Given the description of an element on the screen output the (x, y) to click on. 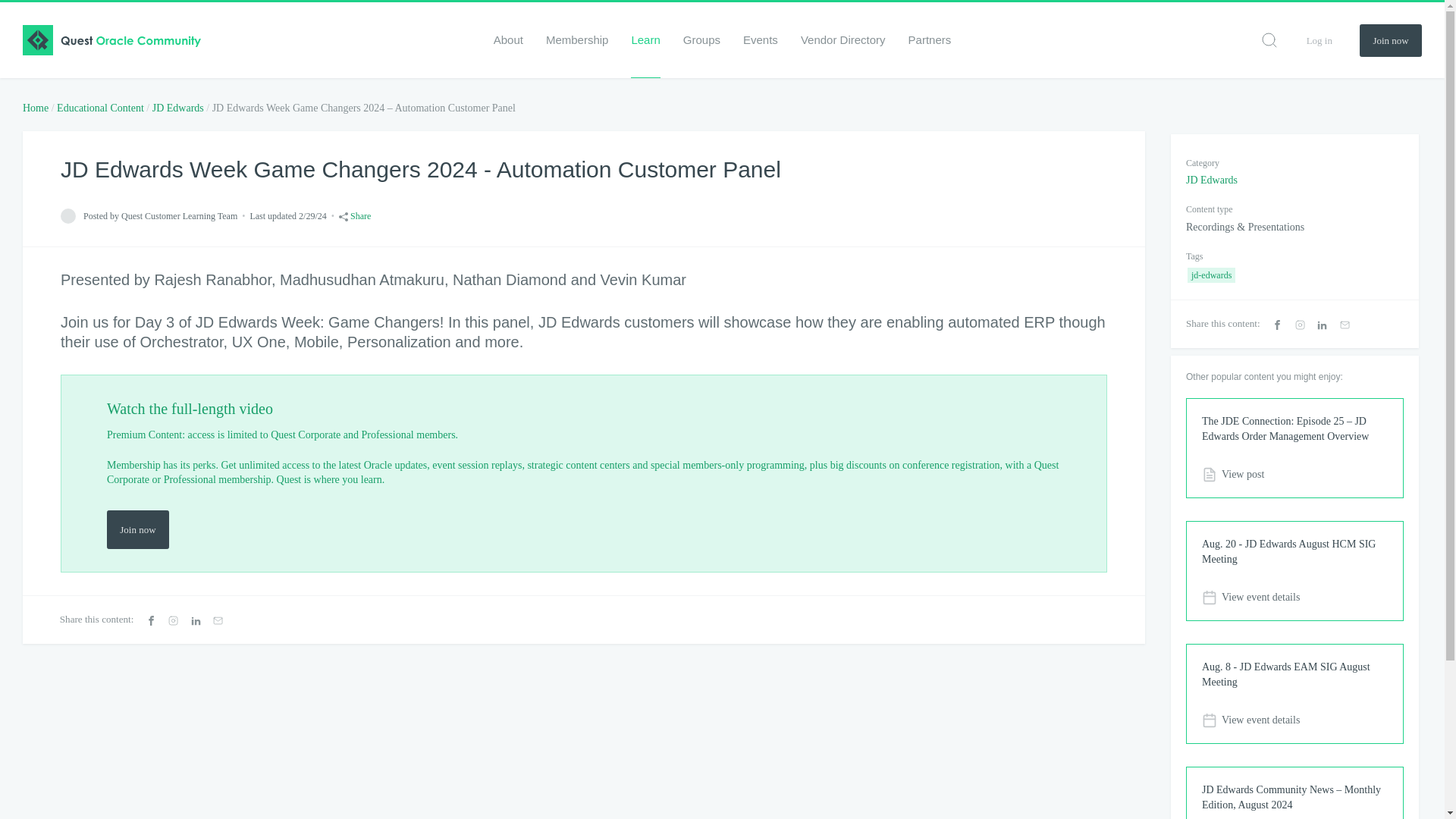
jd-edwards (1211, 274)
Quest Customer Learning Team (68, 215)
Join now (137, 529)
Learn (644, 39)
Events (759, 39)
Quest Oracle Community (111, 40)
Home (35, 107)
Groups (701, 39)
Educational Content (100, 107)
Quest Oracle Community (111, 40)
